Given the description of an element on the screen output the (x, y) to click on. 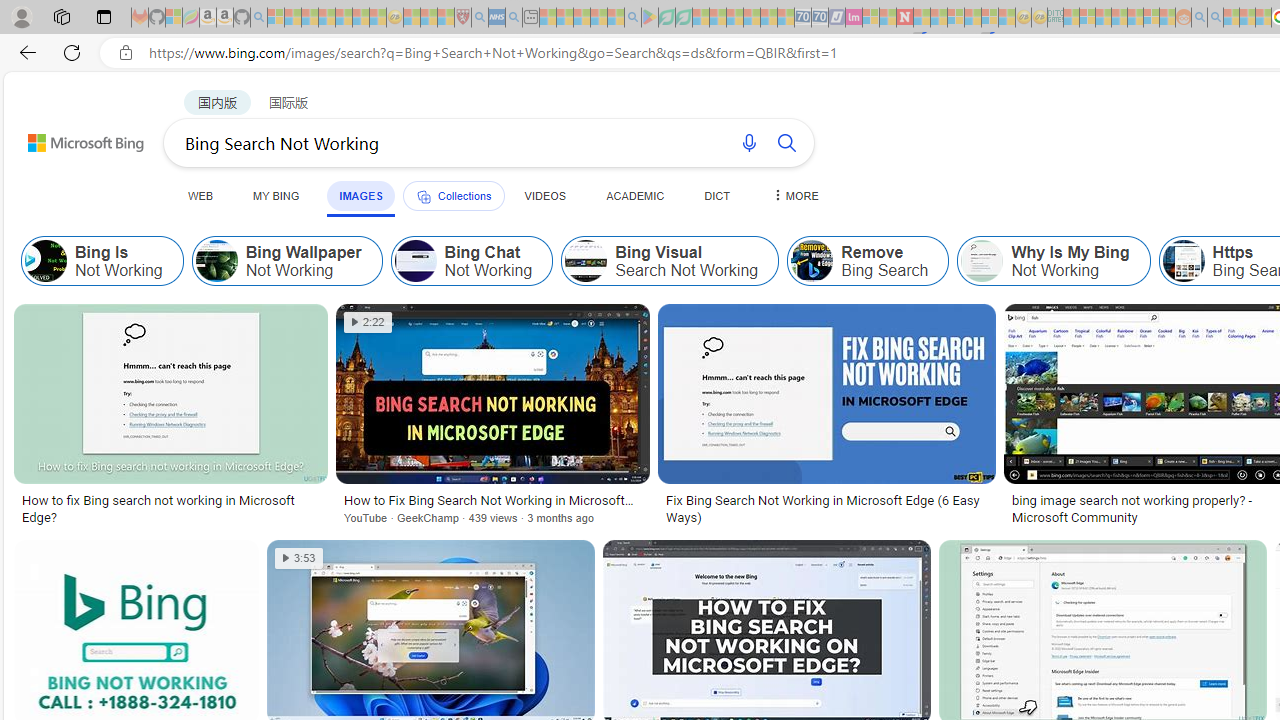
2:22 (368, 322)
ACADEMIC (635, 195)
Back to Bing search (73, 138)
MY BING (276, 195)
Fix Bing Search Not Working in Microsoft Edge (6 Easy Ways) (826, 508)
Class: b_pri_nav_svg (423, 196)
